Given the description of an element on the screen output the (x, y) to click on. 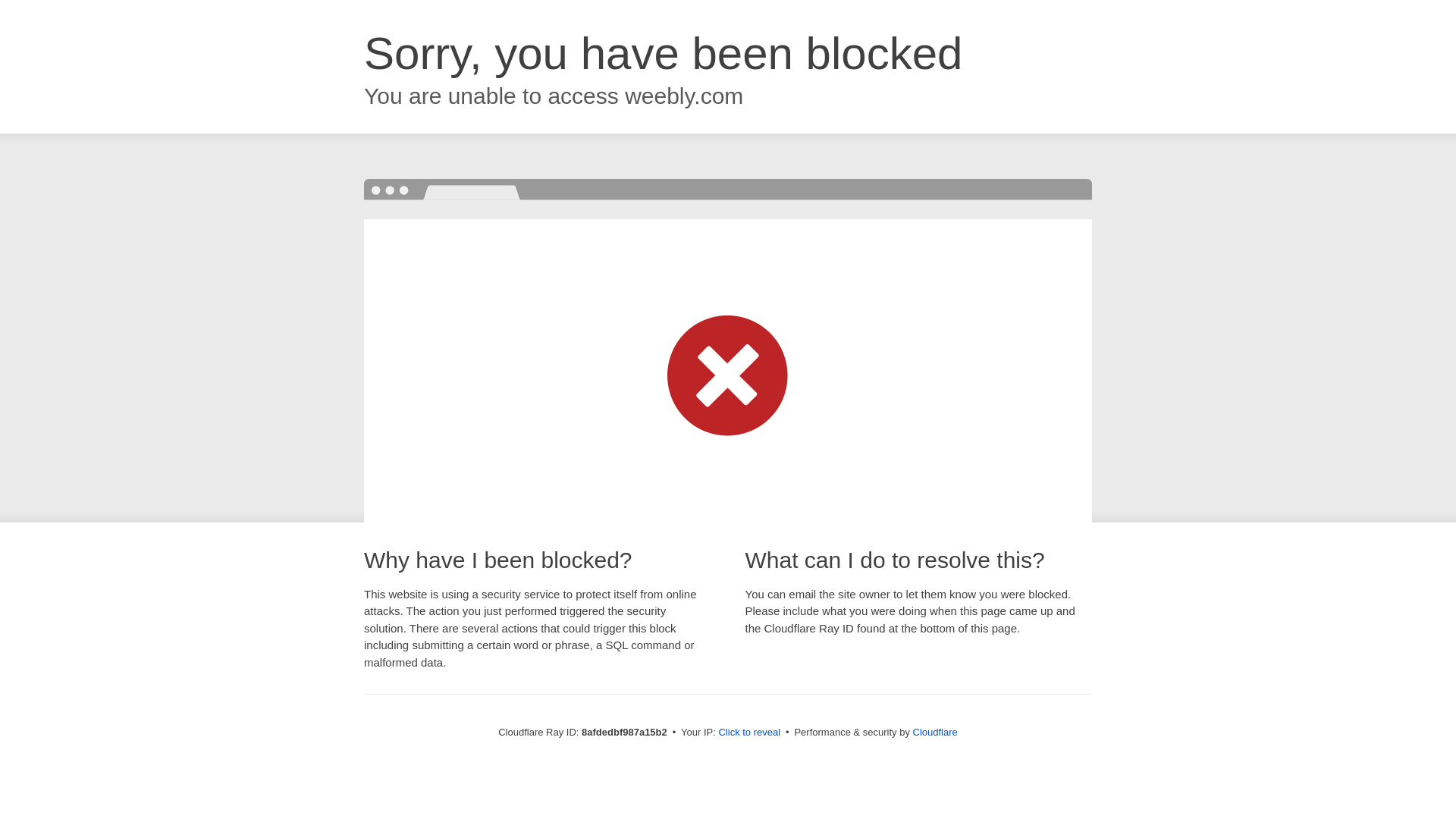
Click to reveal (748, 732)
Cloudflare (935, 731)
